Given the description of an element on the screen output the (x, y) to click on. 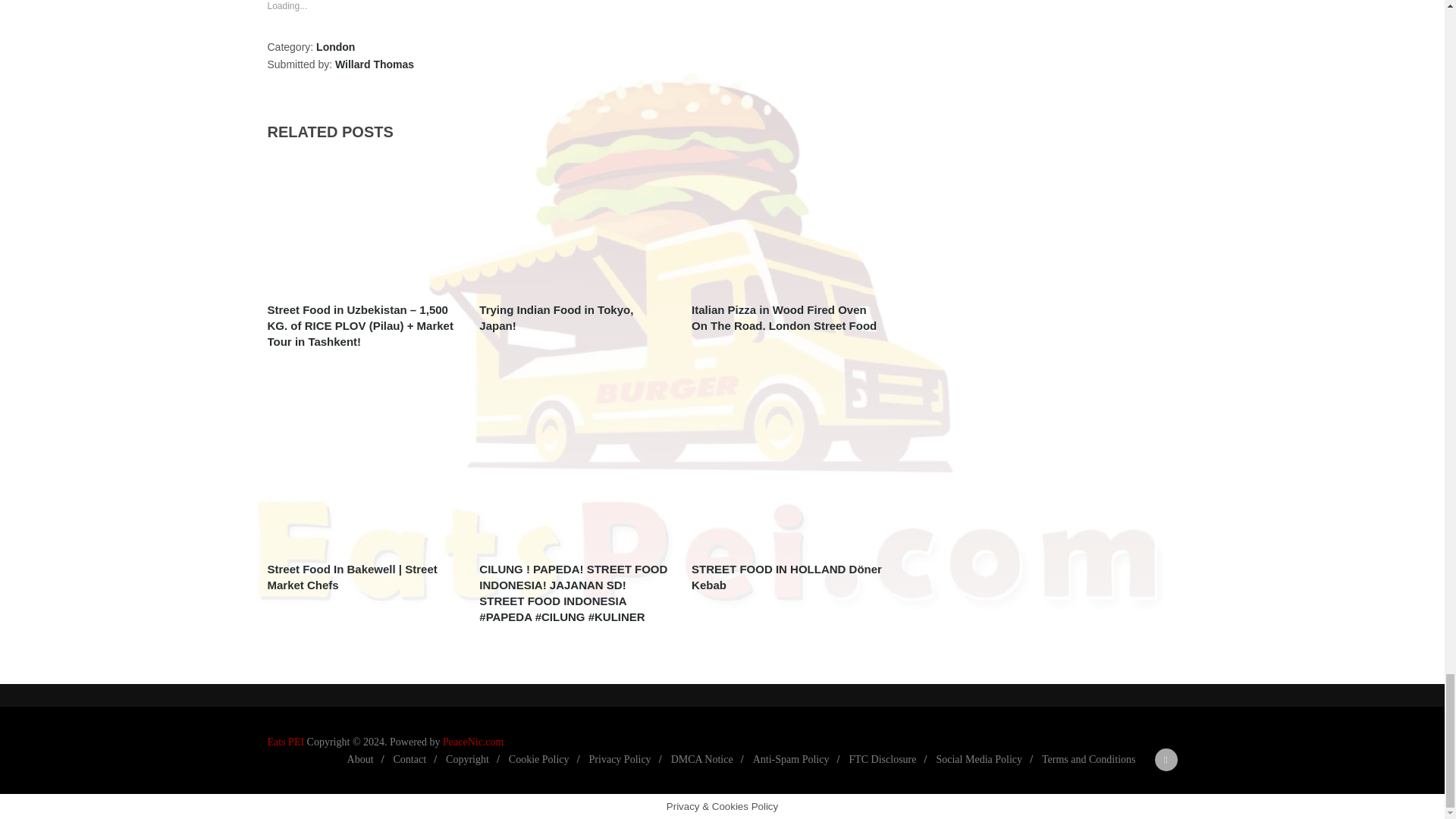
Trying Indian Food in Tokyo, Japan! (575, 224)
Trying Indian Food in Tokyo, Japan! (575, 317)
